Given the description of an element on the screen output the (x, y) to click on. 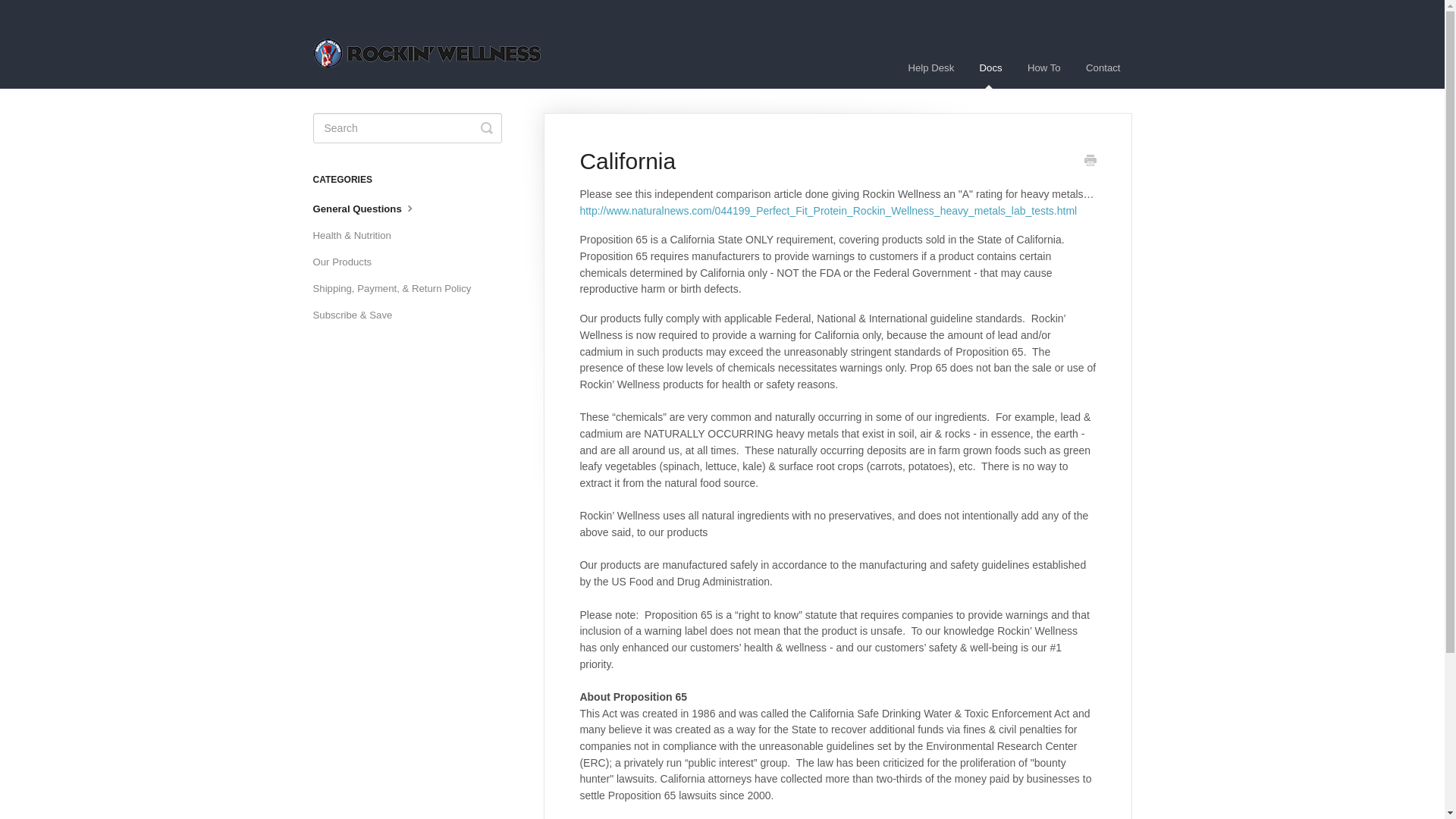
General Questions (371, 208)
How To (1043, 67)
Contact (1102, 67)
Our Products (347, 262)
search-query (406, 128)
Docs (990, 67)
Help Desk (930, 67)
